Given the description of an element on the screen output the (x, y) to click on. 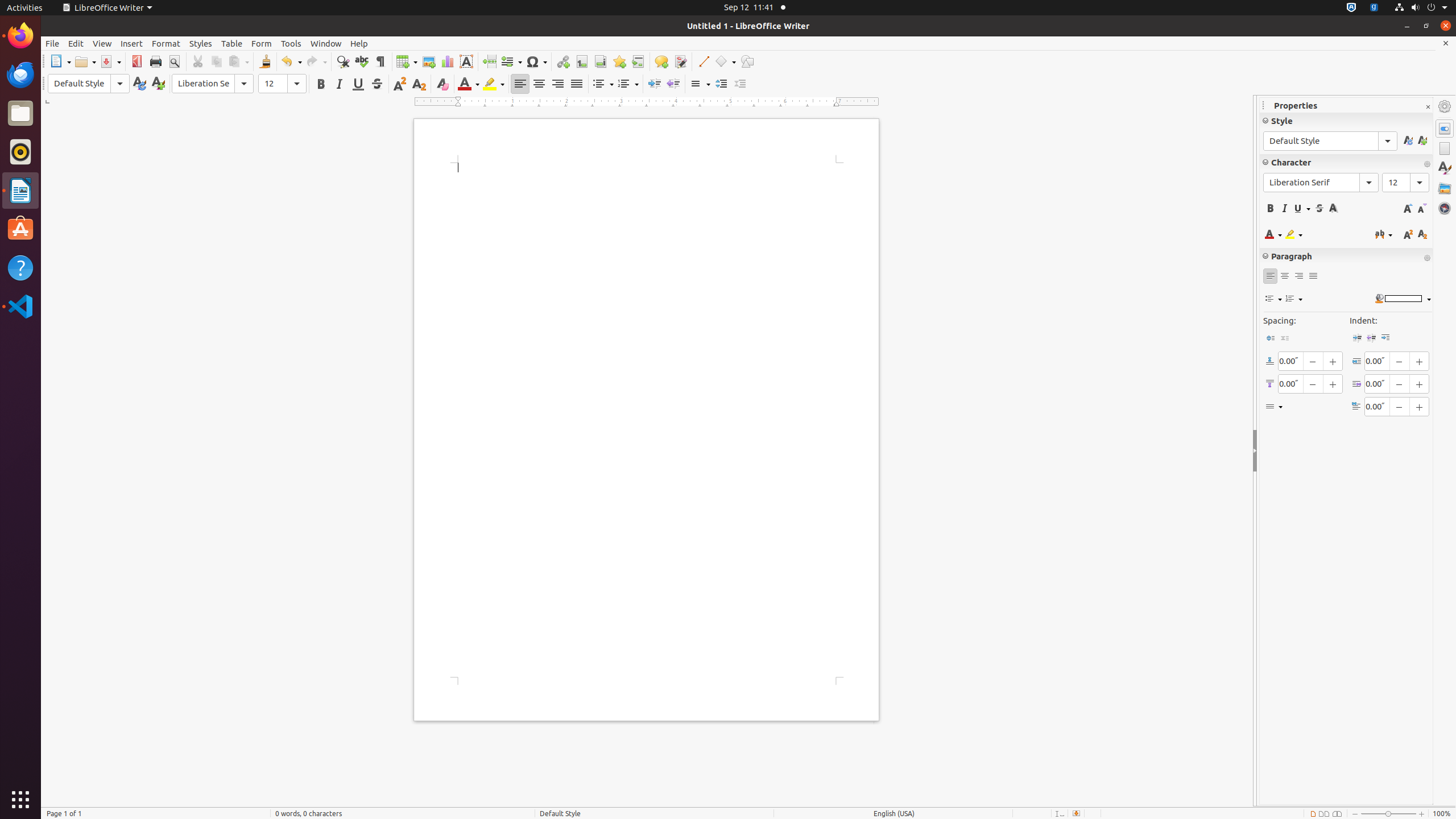
LibreOffice Writer Element type: push-button (20, 190)
Numbering Element type: push-button (627, 83)
Redo Element type: push-button (315, 61)
Paragraph Style Element type: combo-box (88, 83)
Format Element type: menu (165, 43)
